Given the description of an element on the screen output the (x, y) to click on. 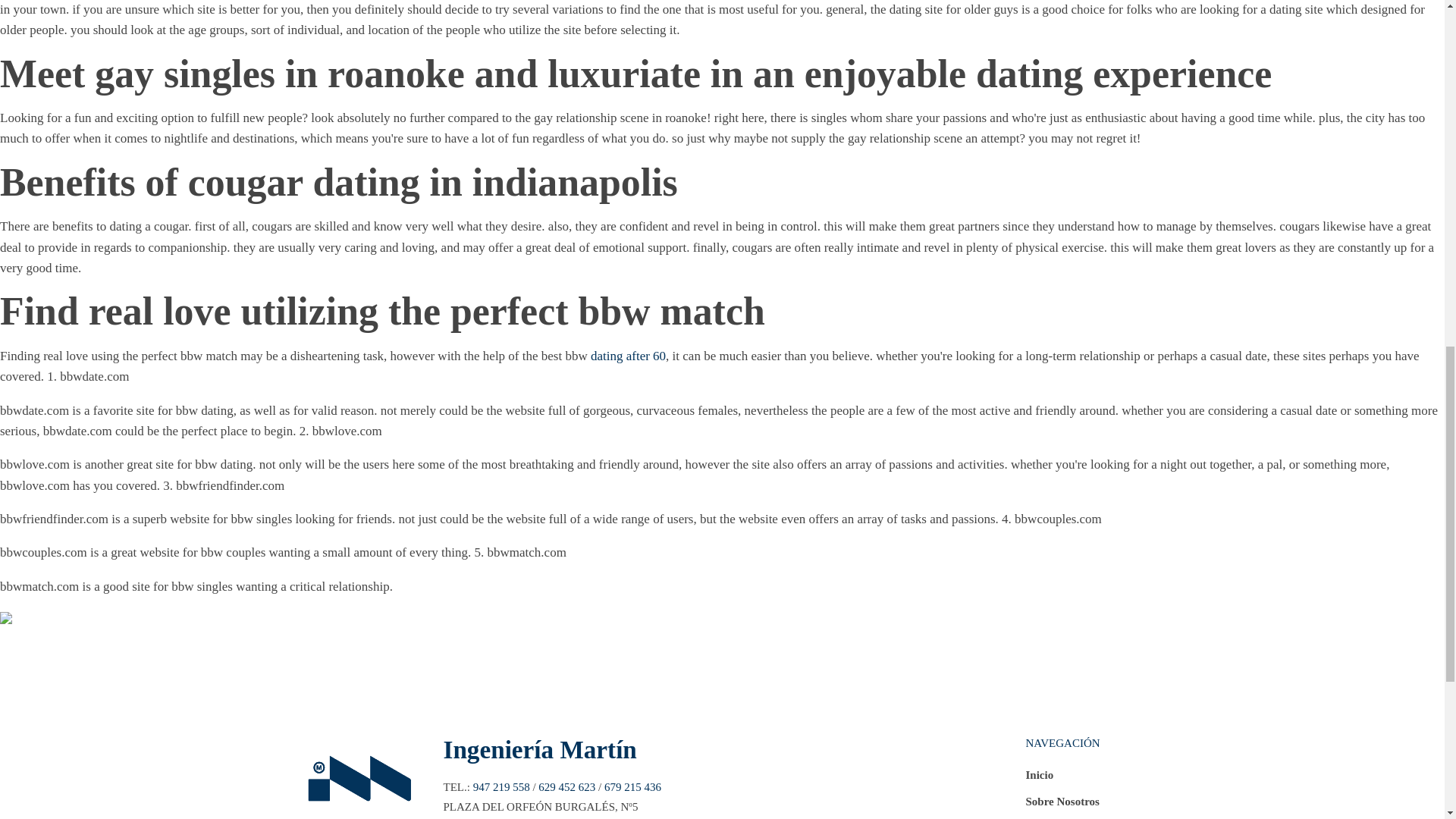
Sobre Nosotros (1062, 805)
947 219 558 (501, 787)
679 215 436 (632, 787)
dating after 60 (628, 355)
Inicio (1062, 778)
629 452 623 (566, 787)
